Given the description of an element on the screen output the (x, y) to click on. 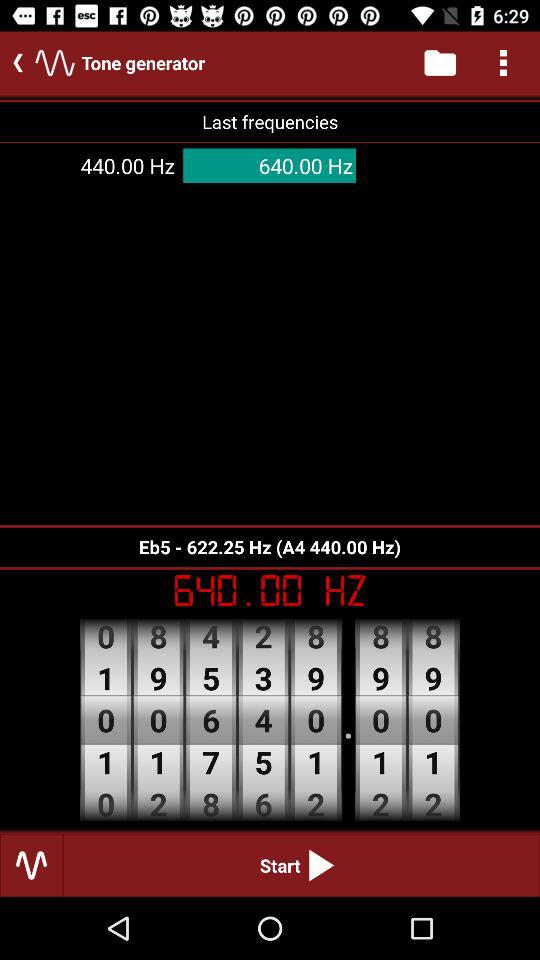
swipe until the eb5 622 25 item (270, 546)
